Given the description of an element on the screen output the (x, y) to click on. 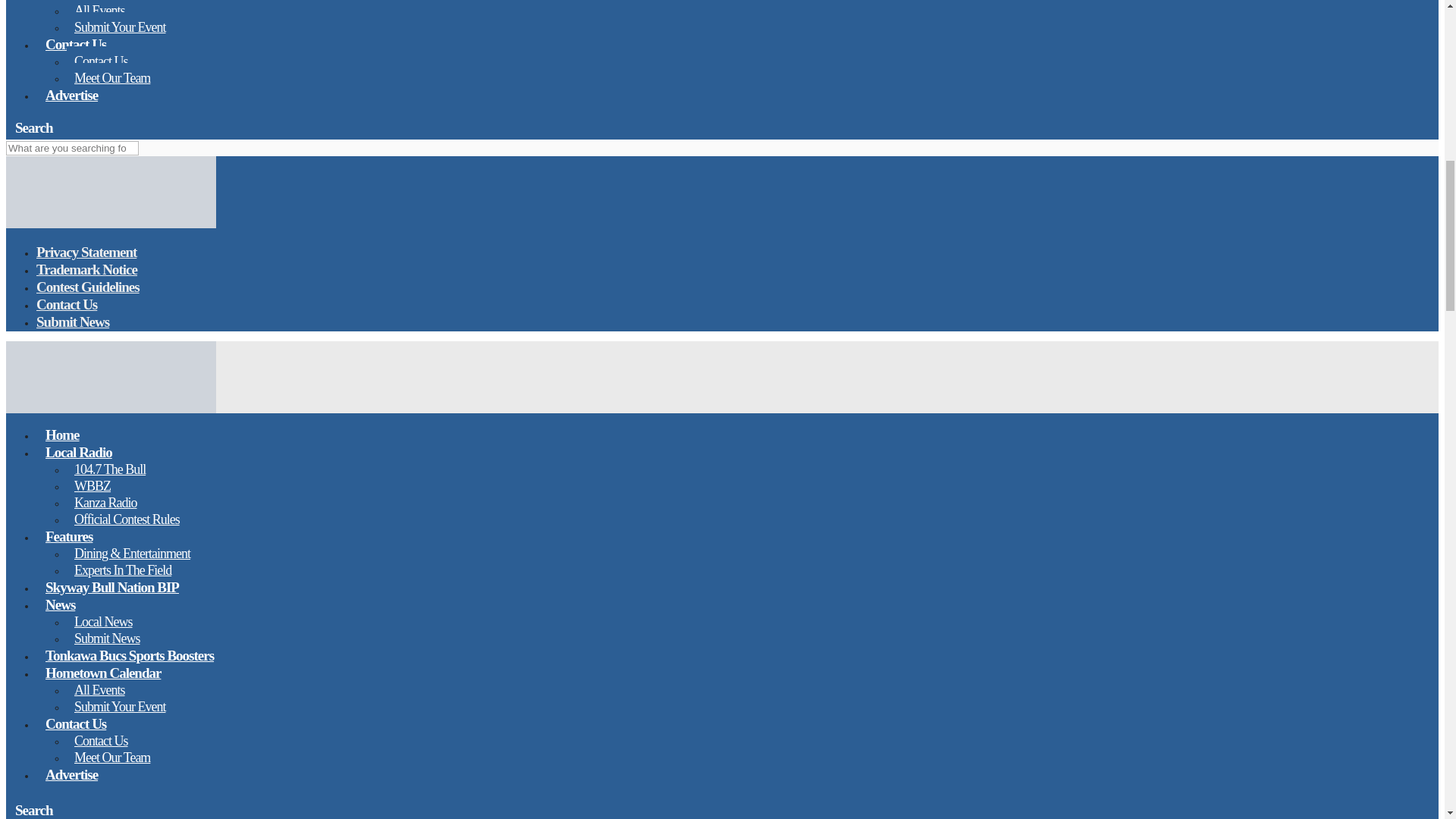
Search for: (71, 147)
My Hometown Post (110, 224)
